Given the description of an element on the screen output the (x, y) to click on. 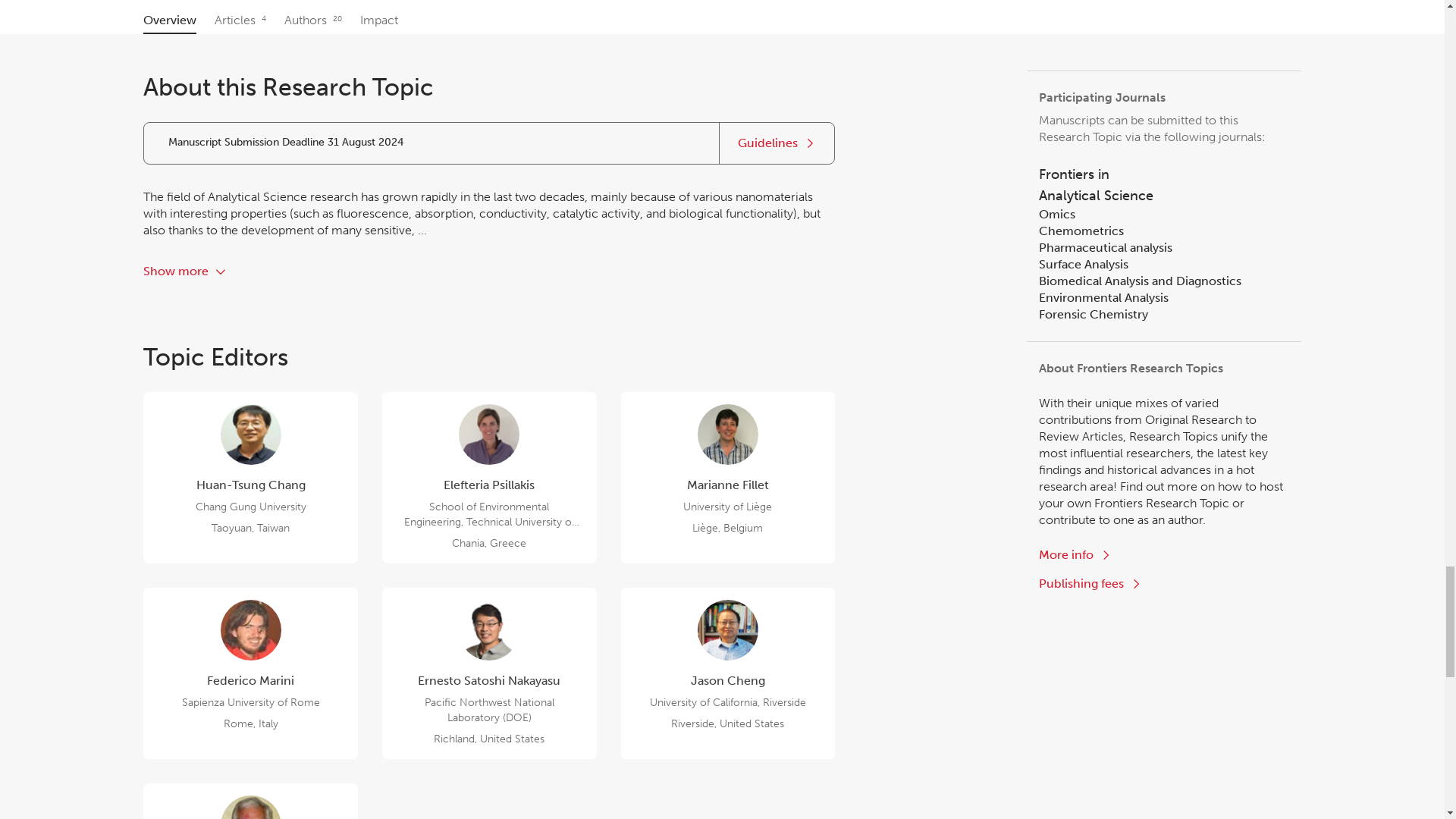
Show more (250, 673)
Overview (184, 271)
Guidelines (169, 20)
Authors 20 (776, 143)
Articles 4 (250, 800)
Impact (312, 20)
